Given the description of an element on the screen output the (x, y) to click on. 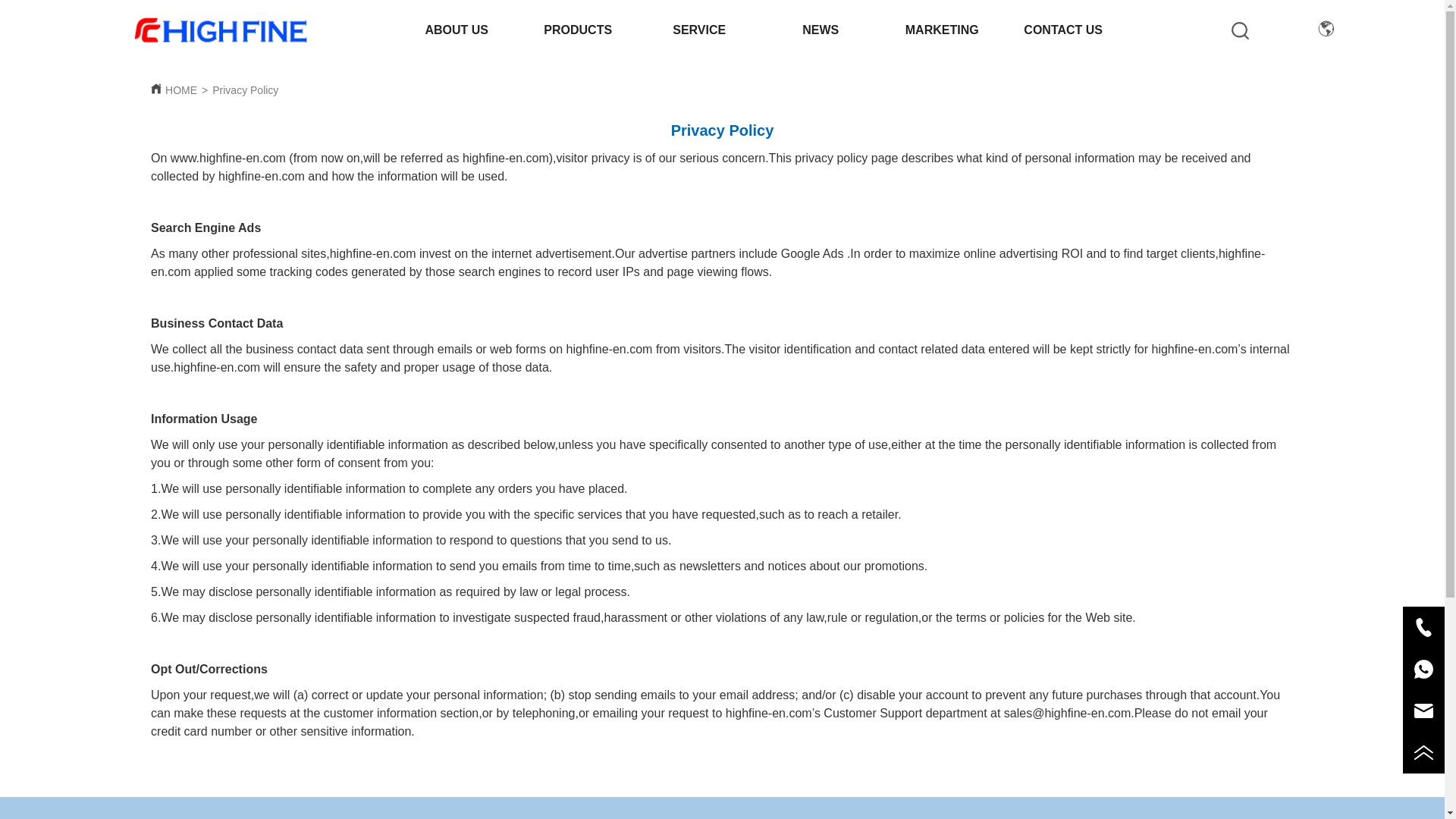
ABOUT US (456, 30)
CONTACT US (1063, 30)
HOME (221, 30)
Privacy Policy (245, 90)
PRODUCTS (577, 30)
NEWS (820, 30)
HOME (180, 90)
SERVICE (699, 30)
MARKETING (941, 30)
